Given the description of an element on the screen output the (x, y) to click on. 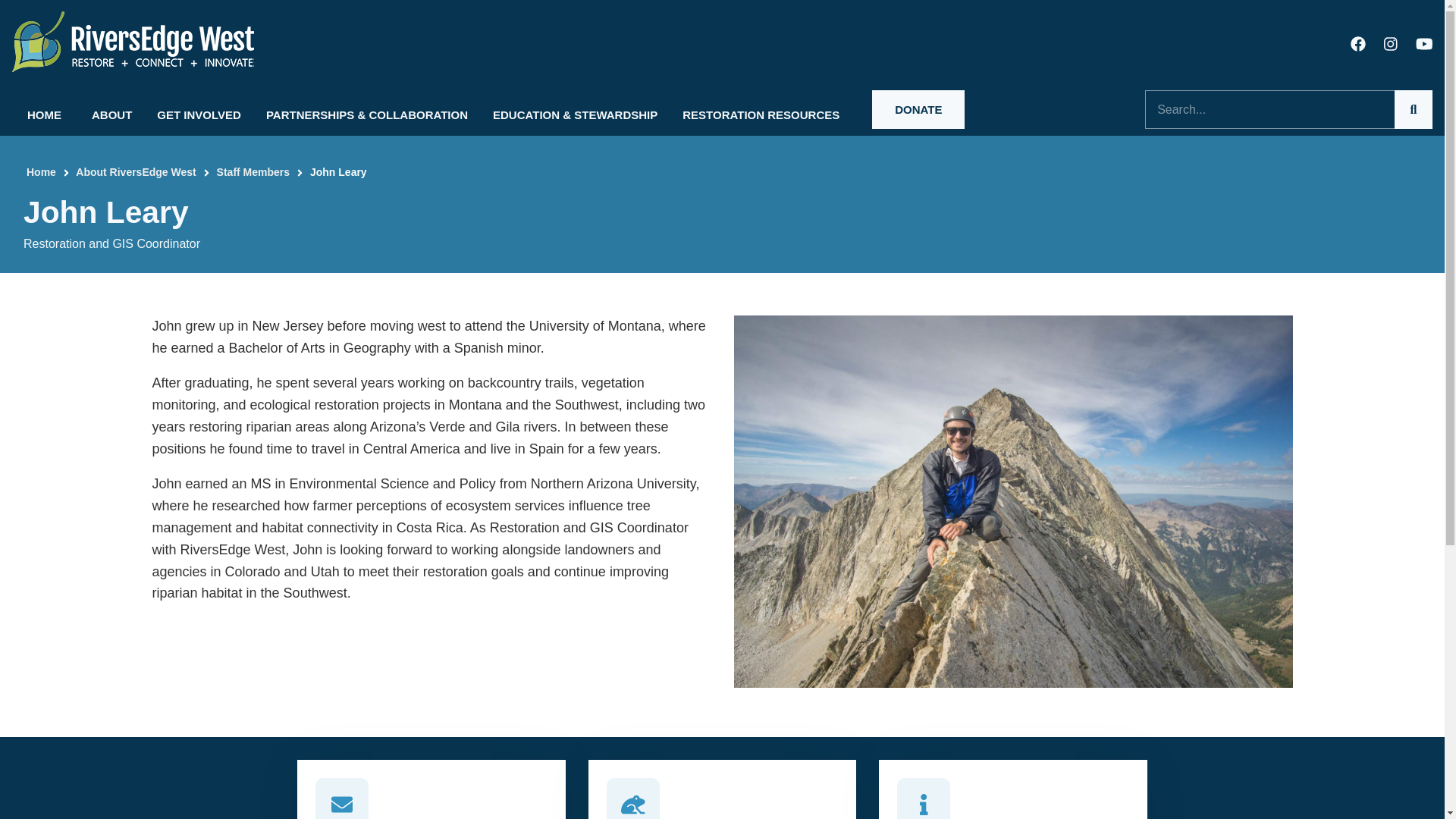
GET INVOLVED (196, 109)
Search (1413, 108)
HOME (44, 109)
ABOUT (108, 109)
Search (1413, 108)
Enter the terms you wish to search for. (1288, 109)
Home (132, 40)
